Given the description of an element on the screen output the (x, y) to click on. 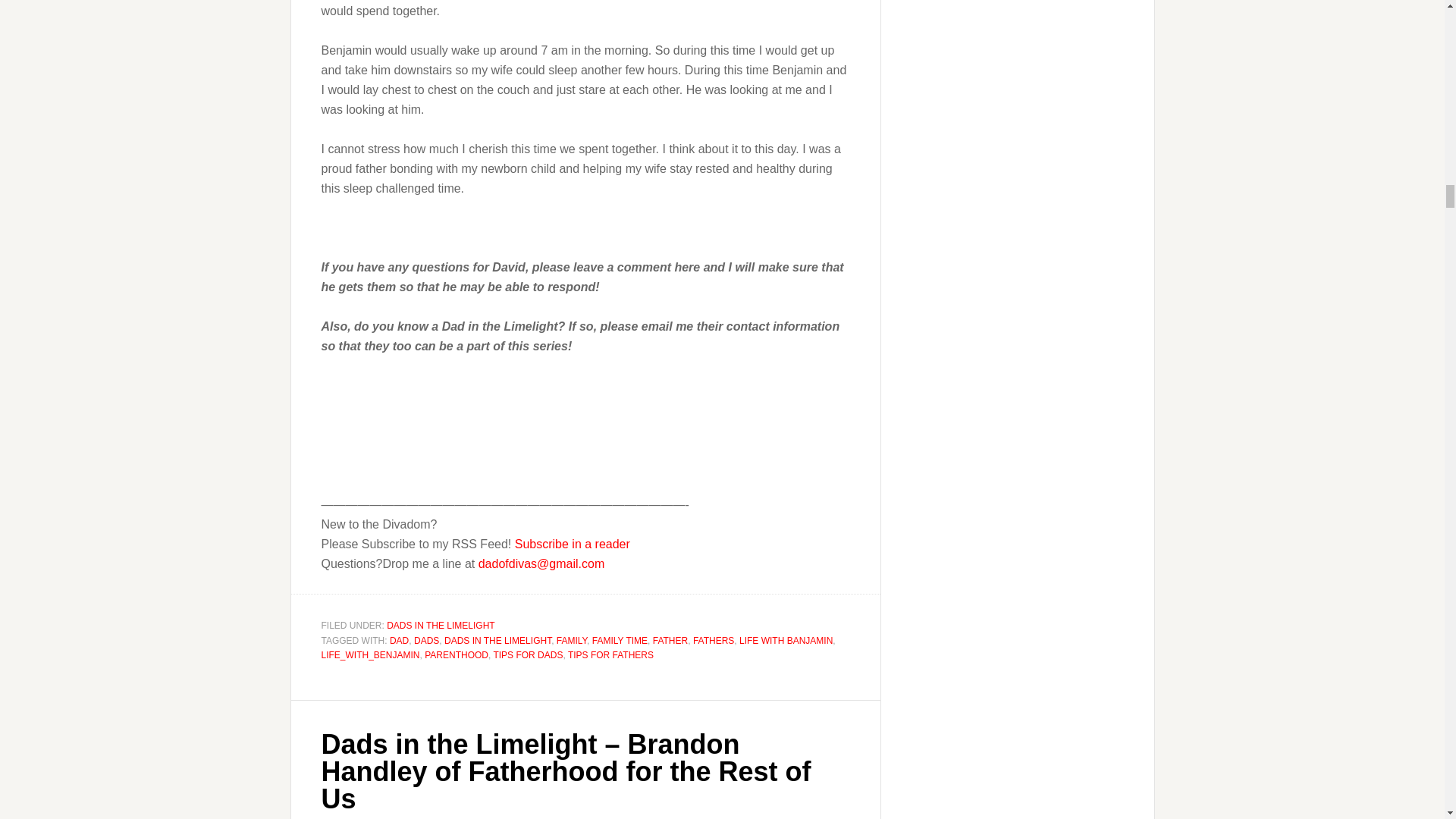
Dad of Divas, dadofdivas.com (367, 402)
